Given the description of an element on the screen output the (x, y) to click on. 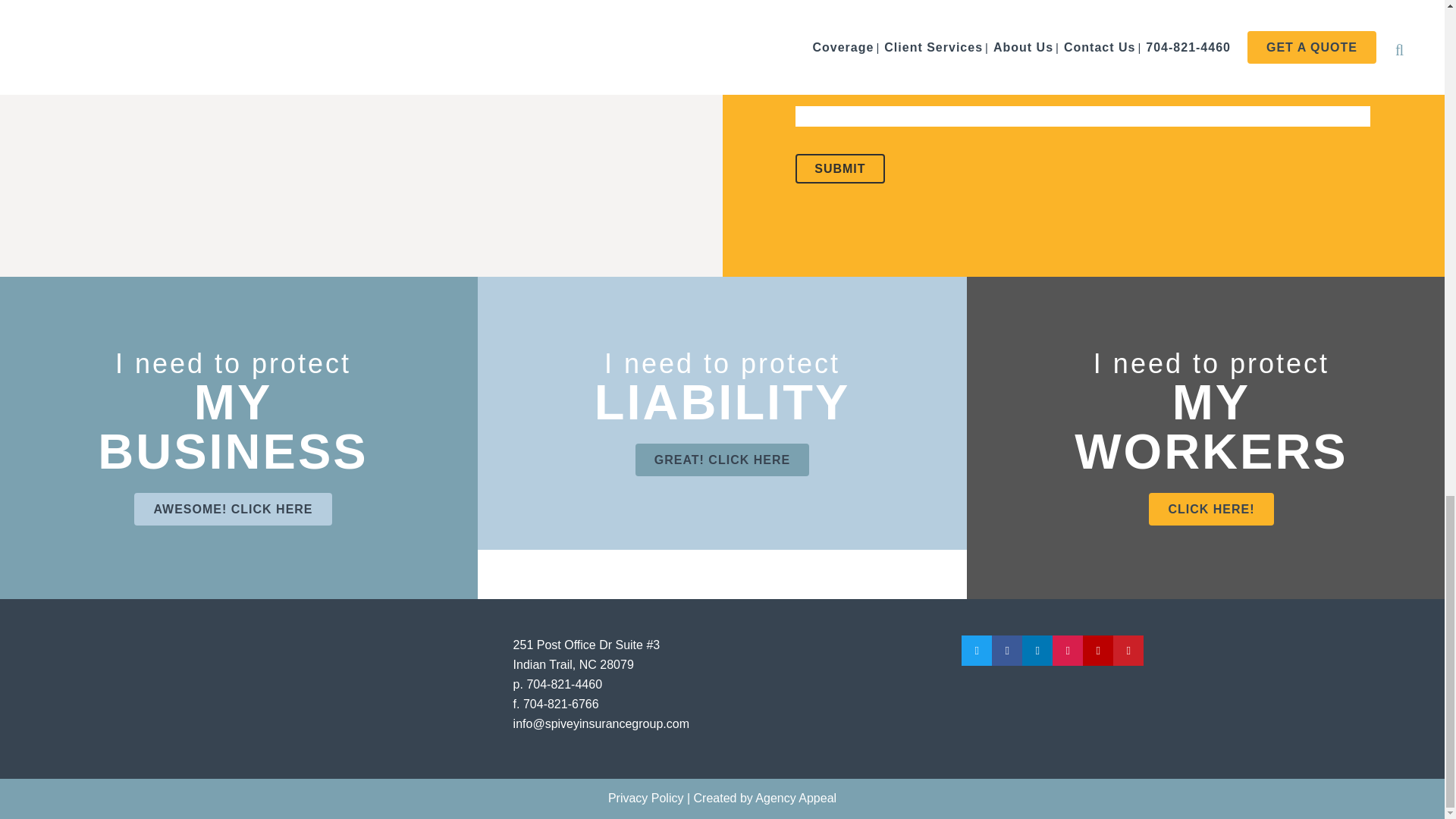
Submit (838, 168)
